Given the description of an element on the screen output the (x, y) to click on. 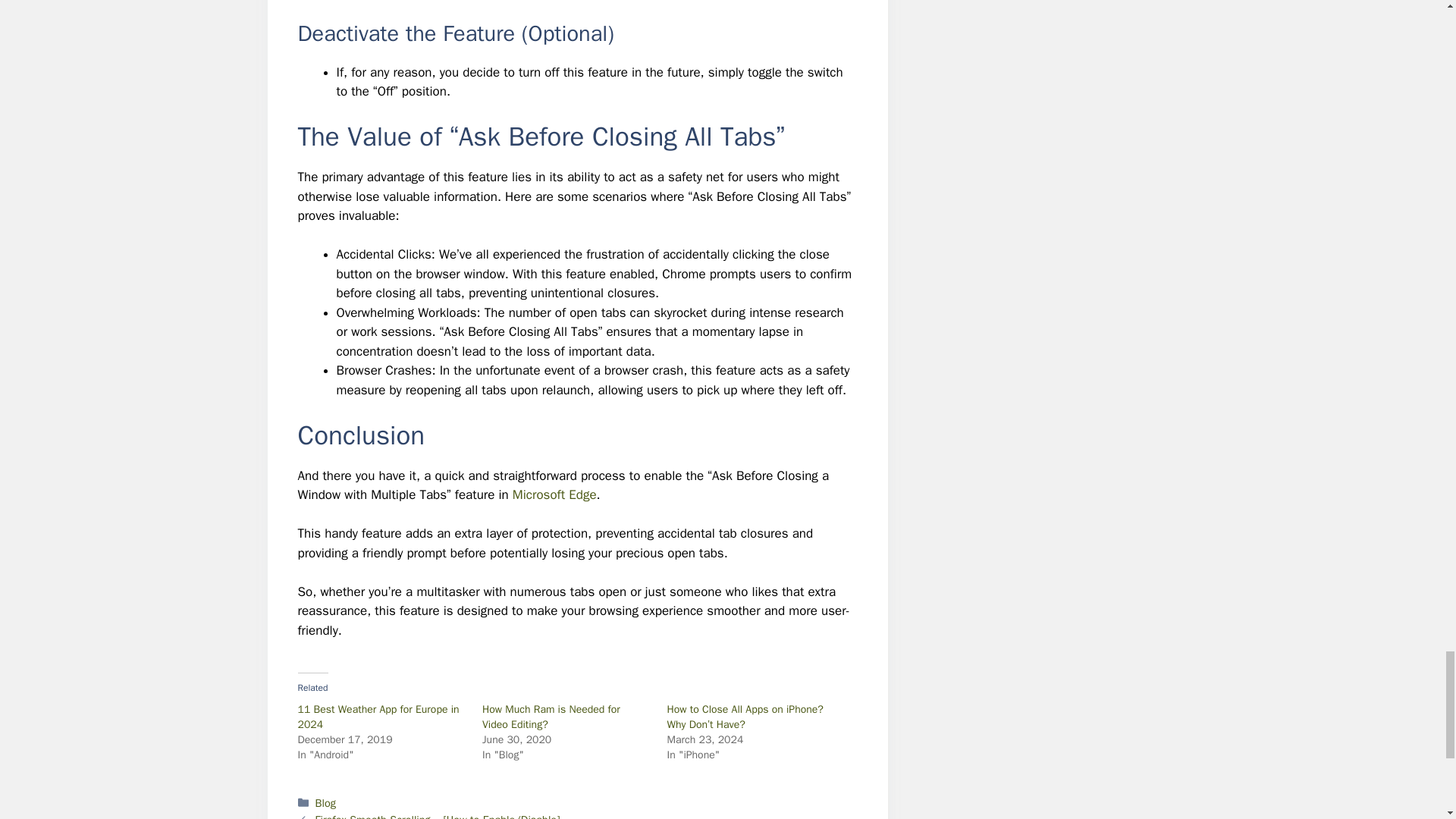
How Much Ram is Needed for Video Editing? (550, 716)
Blog (325, 802)
11 Best Weather App for Europe in 2024 (377, 716)
Microsoft Edge (554, 494)
